Given the description of an element on the screen output the (x, y) to click on. 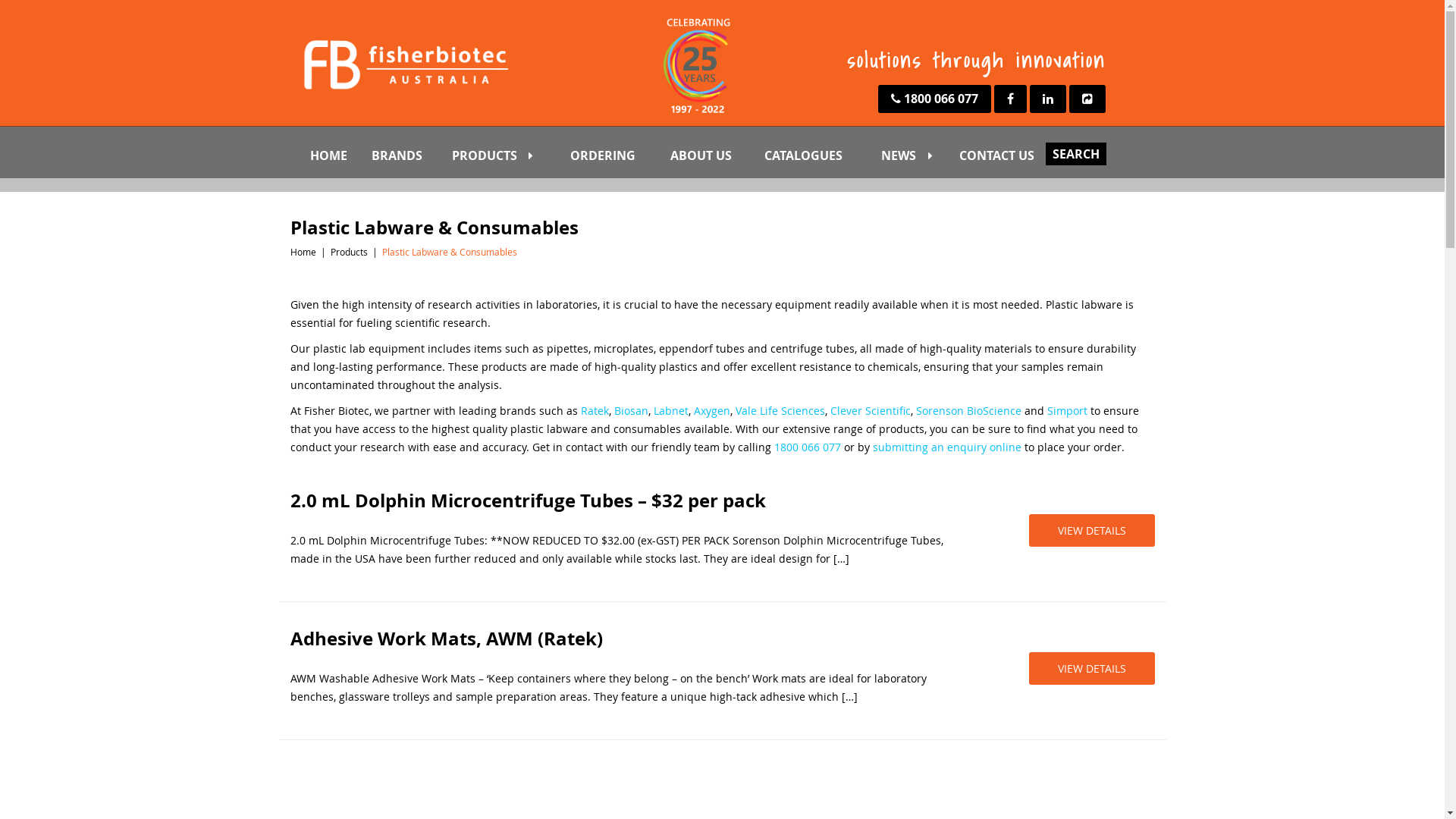
Labnet Element type: text (670, 410)
NEWS Element type: text (915, 154)
Home Element type: text (302, 251)
Ratek Element type: text (594, 410)
Adhesive Work Mats, AWM (Ratek) Element type: text (620, 638)
Our Facebook page Element type: hover (1009, 98)
1800 066 077 Element type: text (806, 446)
CONTACT US Element type: text (1010, 154)
ABOUT US Element type: text (712, 154)
Biosan Element type: text (631, 410)
Our Linked In page Element type: hover (1047, 98)
ORDERING Element type: text (615, 154)
submitting an enquiry online Element type: text (946, 446)
Simport Element type: text (1066, 410)
VIEW DETAILS Element type: text (1091, 668)
CATALOGUES Element type: text (817, 154)
Vale Life Sciences Element type: text (780, 410)
1800 066 077 Element type: text (934, 98)
HOME Element type: text (335, 154)
PRODUCTS Element type: text (506, 154)
BRANDS Element type: text (407, 154)
Products Element type: text (348, 251)
Our Google Map Link page Element type: hover (1087, 98)
Fisher Biotec Element type: hover (403, 63)
VIEW DETAILS Element type: text (1091, 530)
Sorenson BioScience Element type: text (968, 410)
Clever Scientific Element type: text (869, 410)
Axygen Element type: text (711, 410)
